Given the description of an element on the screen output the (x, y) to click on. 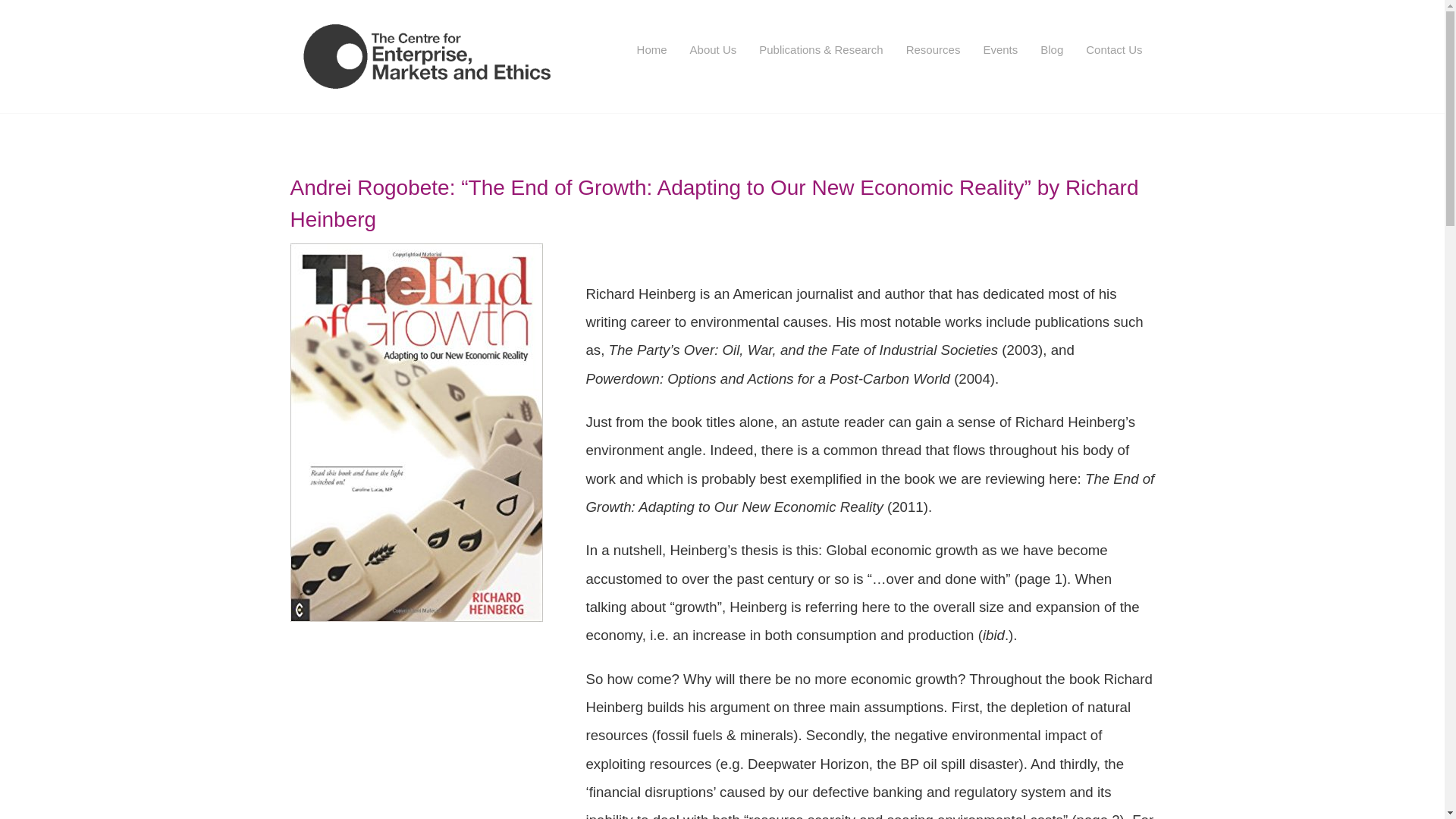
Contact Us (1113, 49)
About Us (713, 49)
Home (652, 49)
Blog (1051, 49)
Resources (933, 49)
Events (1000, 49)
